Given the description of an element on the screen output the (x, y) to click on. 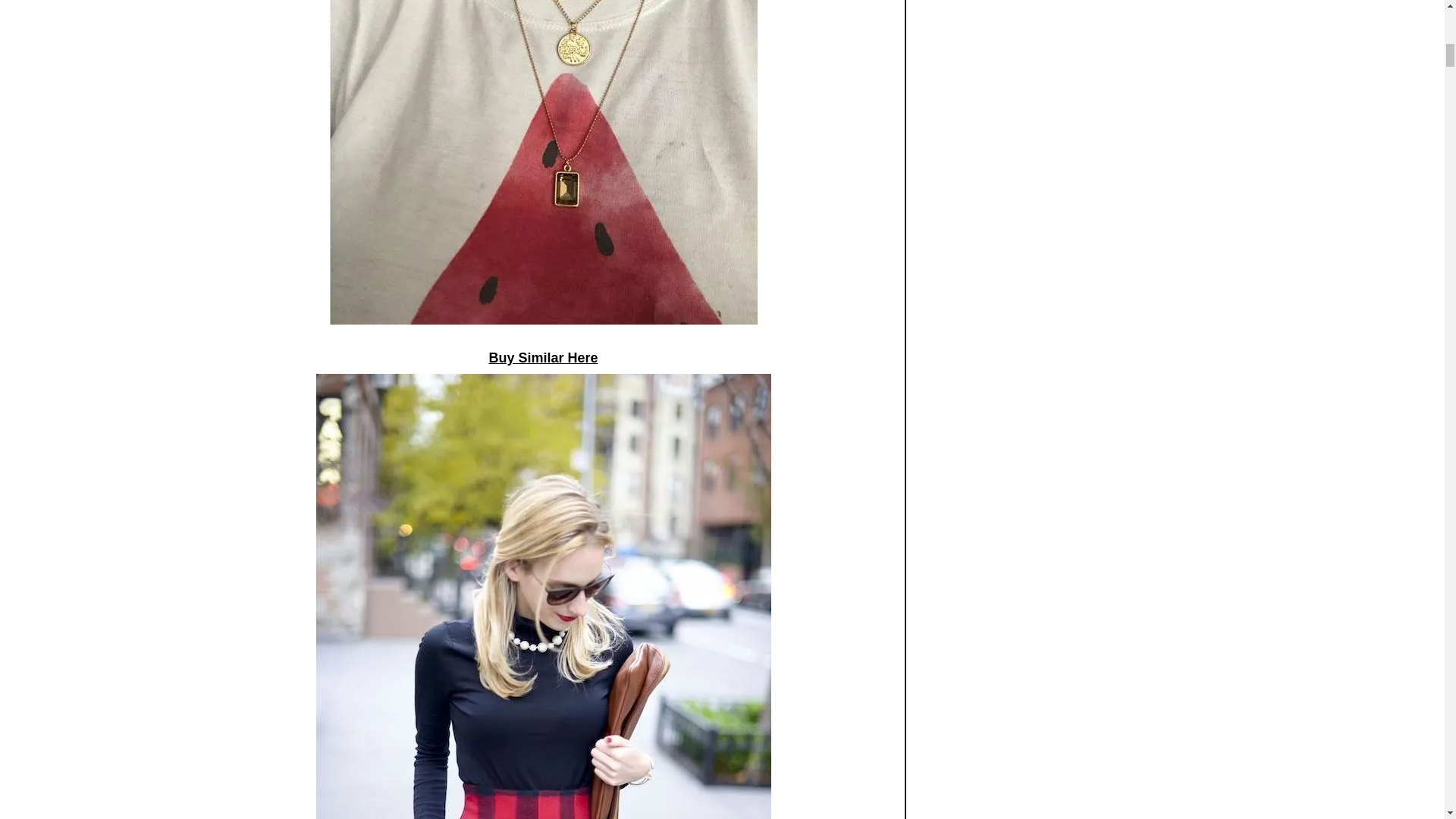
Buy Similar Here (541, 357)
